Given the description of an element on the screen output the (x, y) to click on. 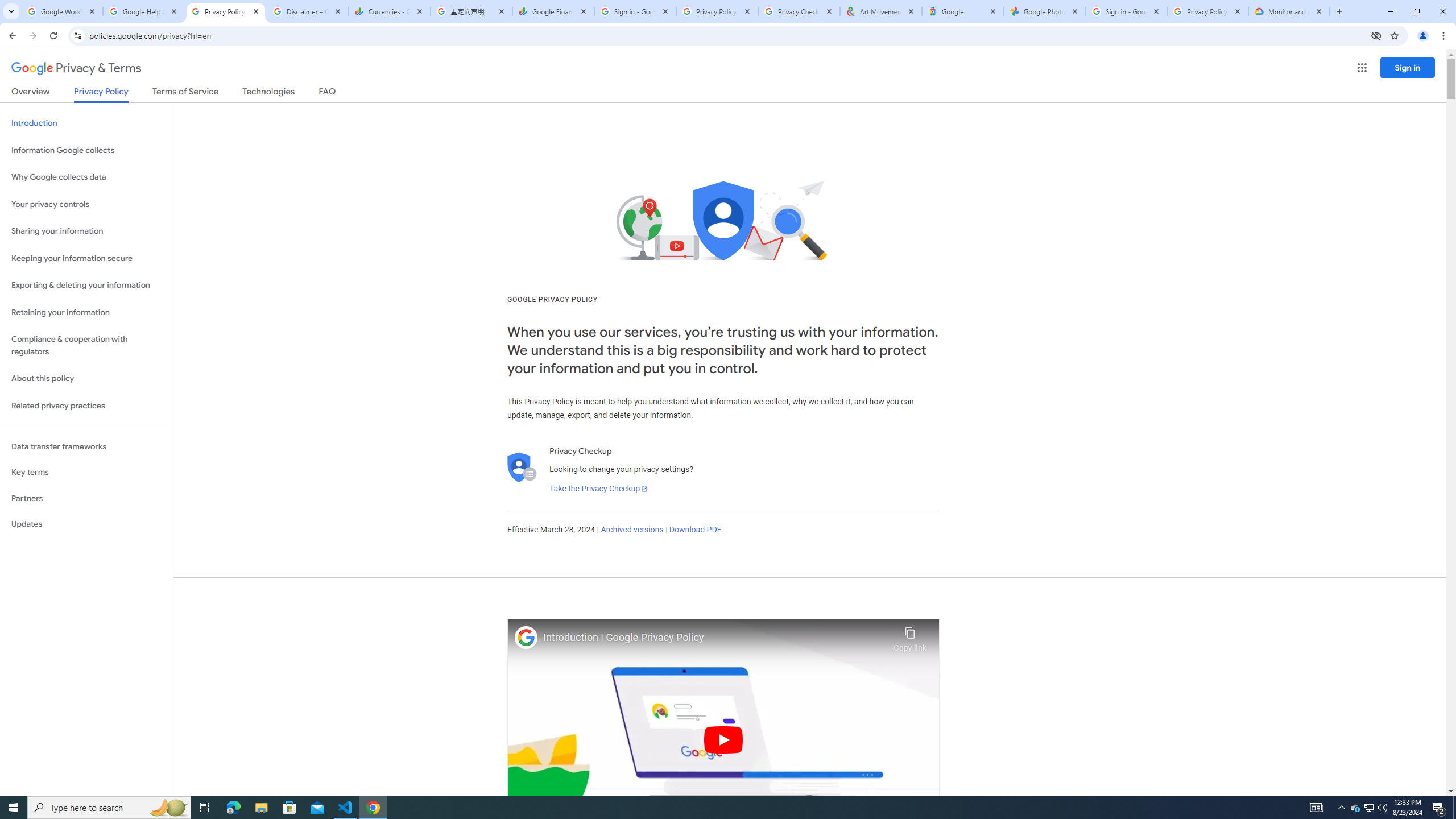
Privacy Checkup (798, 11)
Exporting & deleting your information (86, 284)
